Given the description of an element on the screen output the (x, y) to click on. 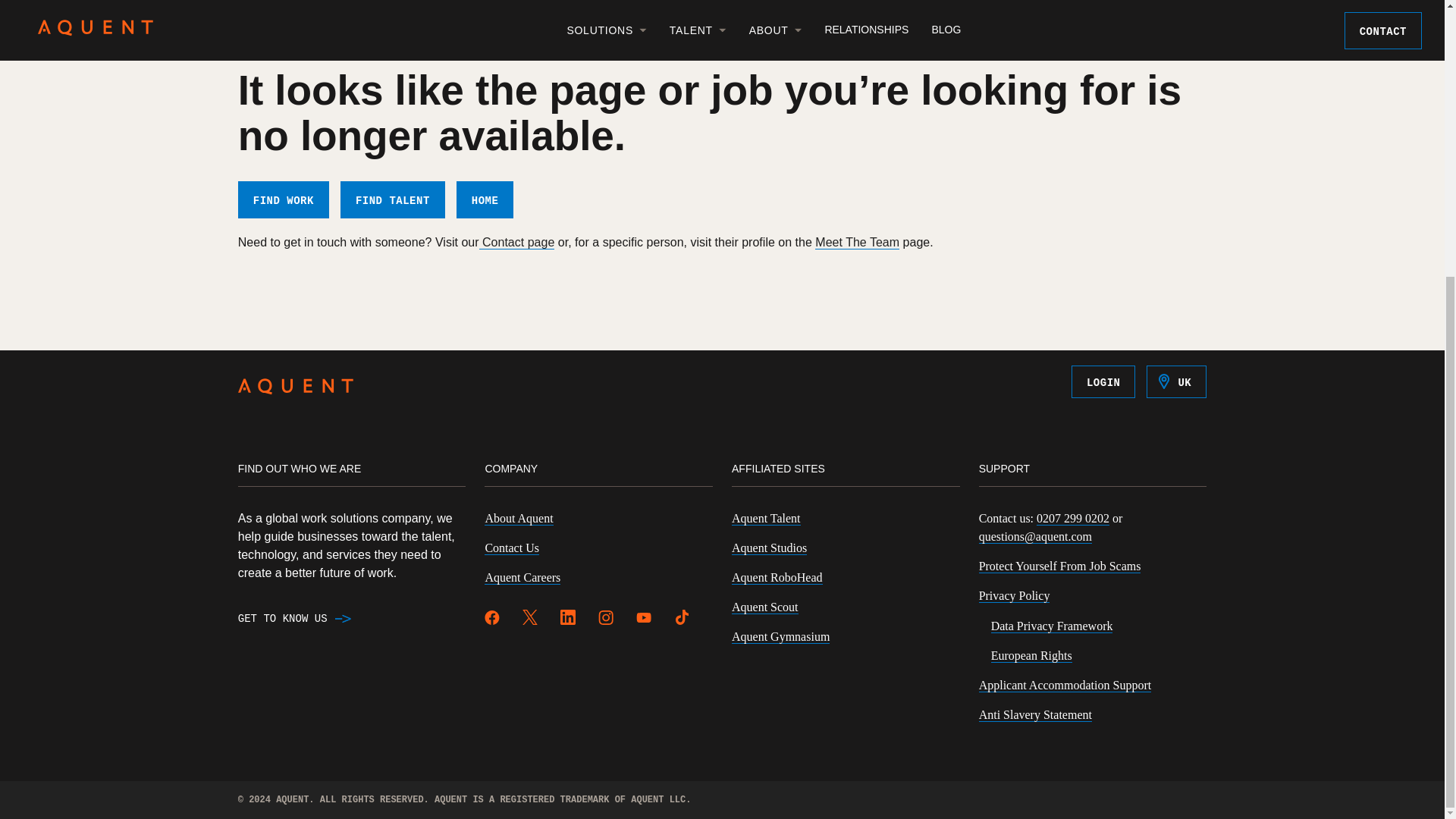
Meet The Team (857, 242)
FIND WORK (283, 199)
FIND TALENT (392, 199)
Aquent Homepage (295, 389)
HOME (485, 199)
LOGIN (1103, 381)
Contact page (516, 242)
